Given the description of an element on the screen output the (x, y) to click on. 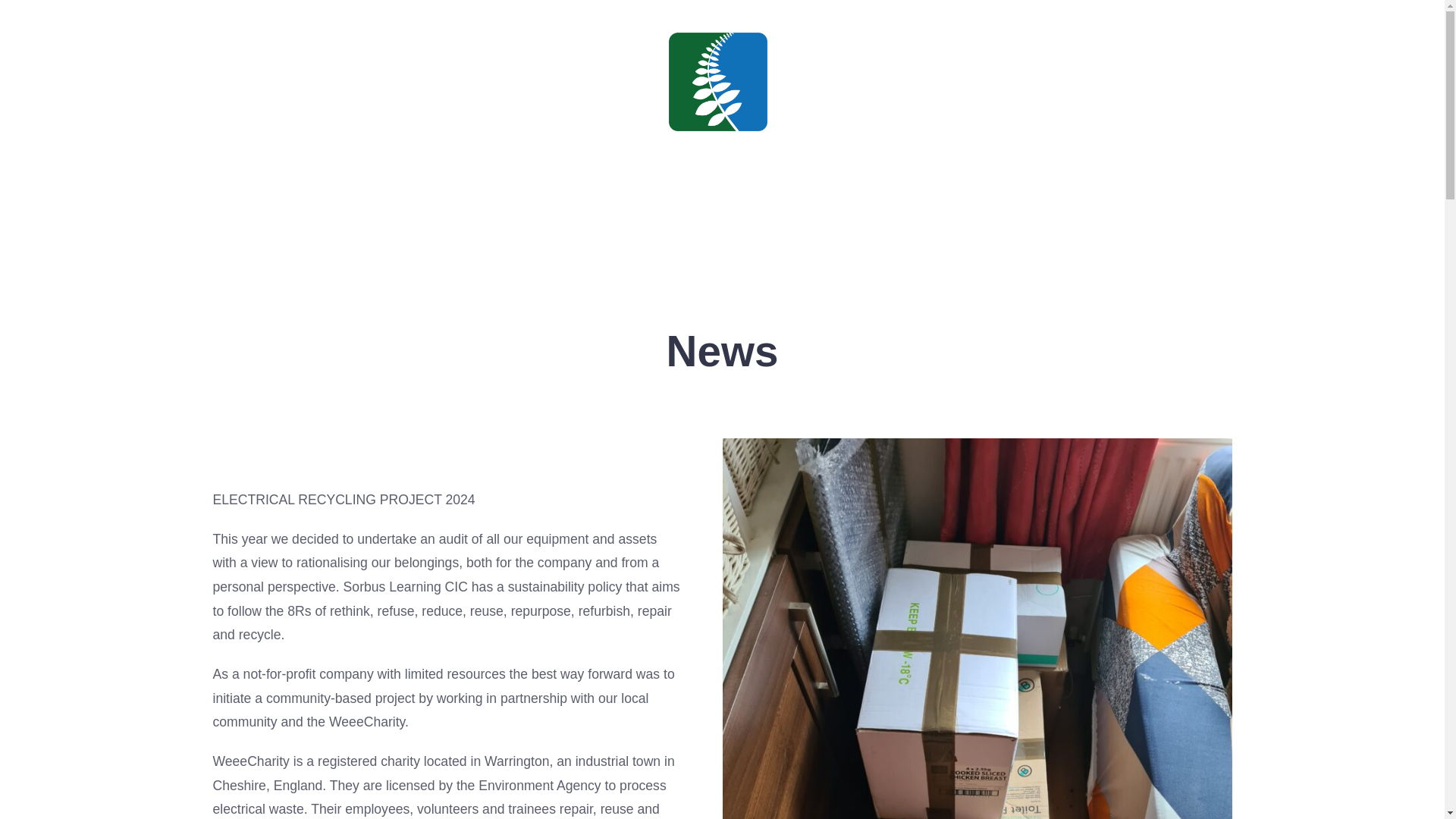
Contact (868, 218)
About (630, 218)
Home (560, 218)
Activities (713, 218)
News (793, 218)
Search Toggle (70, 129)
Sorbus Learning CIC (716, 148)
